Given the description of an element on the screen output the (x, y) to click on. 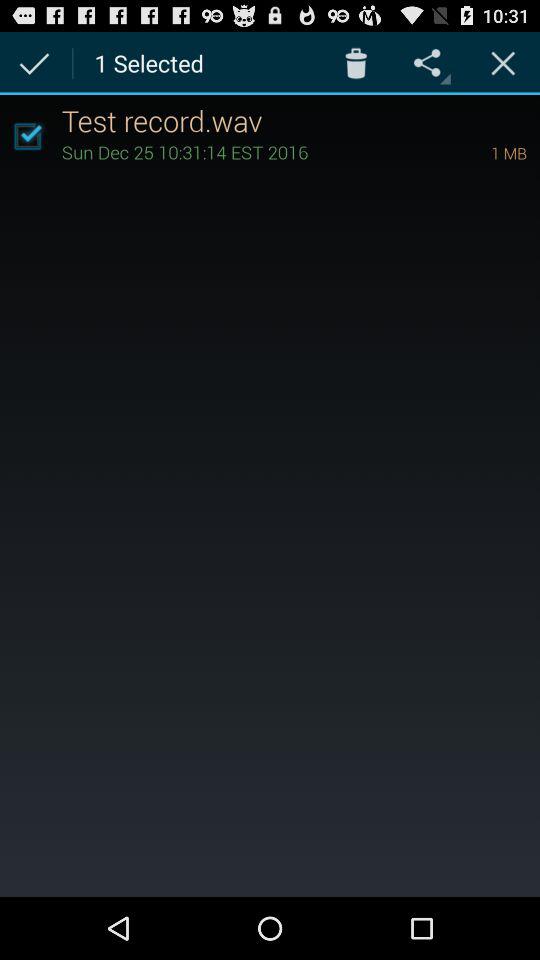
choose the app below the test record.wav (481, 152)
